Given the description of an element on the screen output the (x, y) to click on. 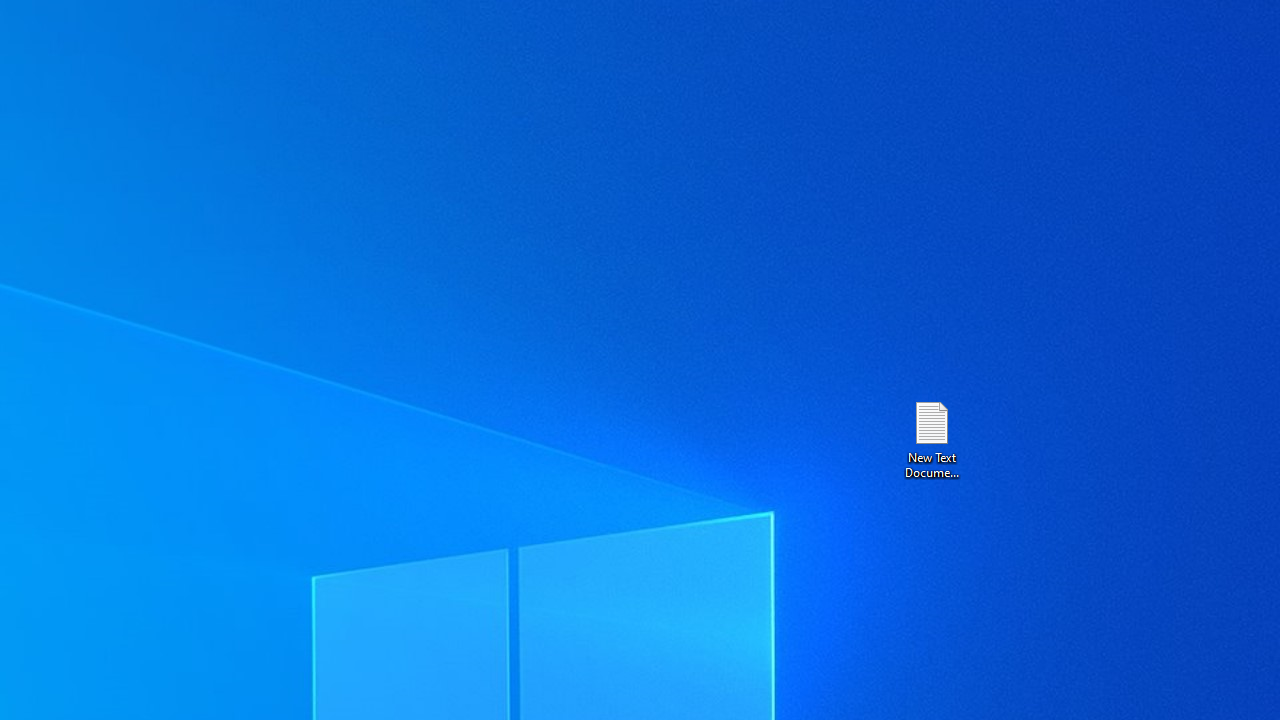
New Text Document (2) (931, 438)
